Given the description of an element on the screen output the (x, y) to click on. 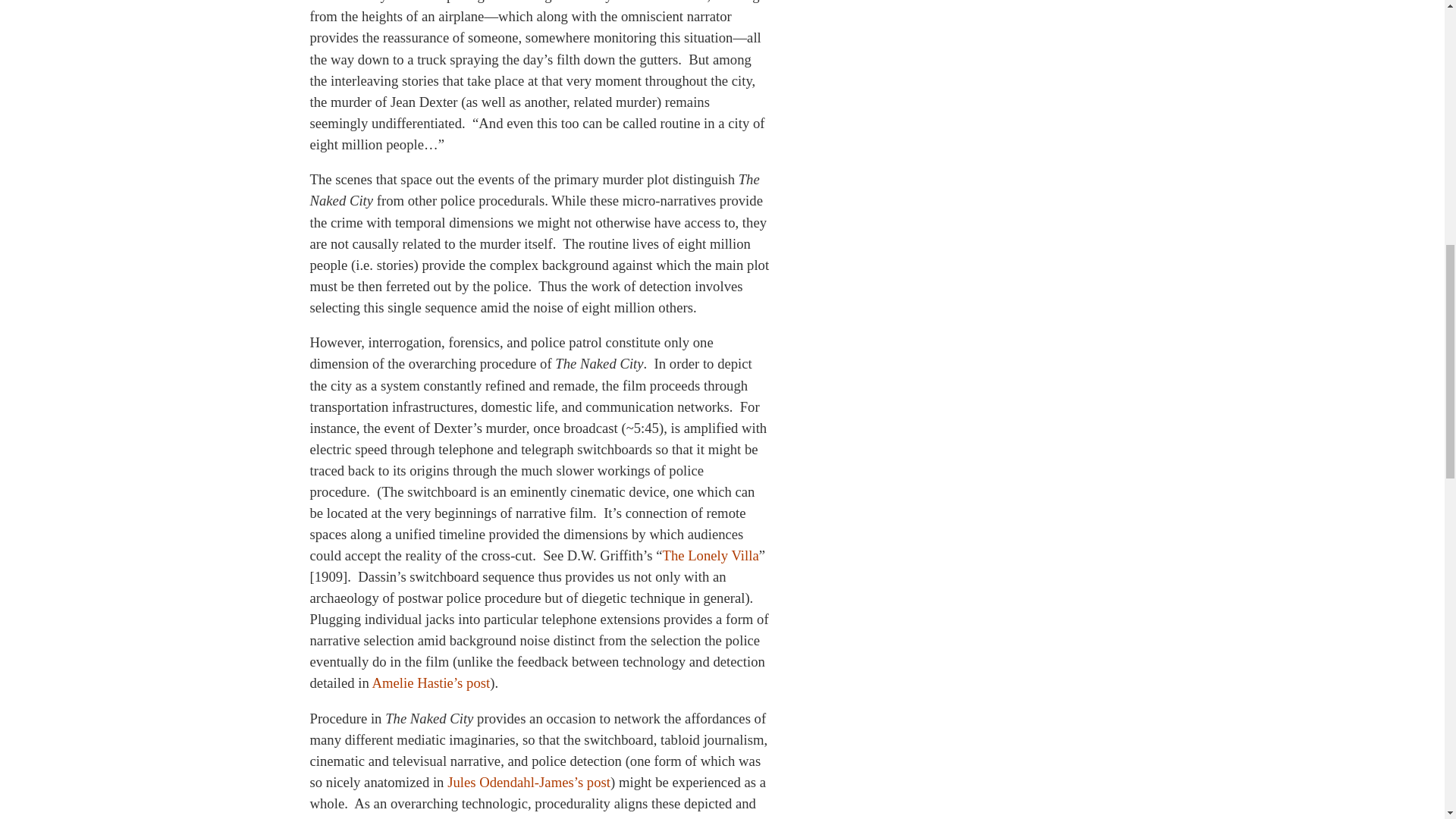
The Lonely Villa (710, 555)
